Given the description of an element on the screen output the (x, y) to click on. 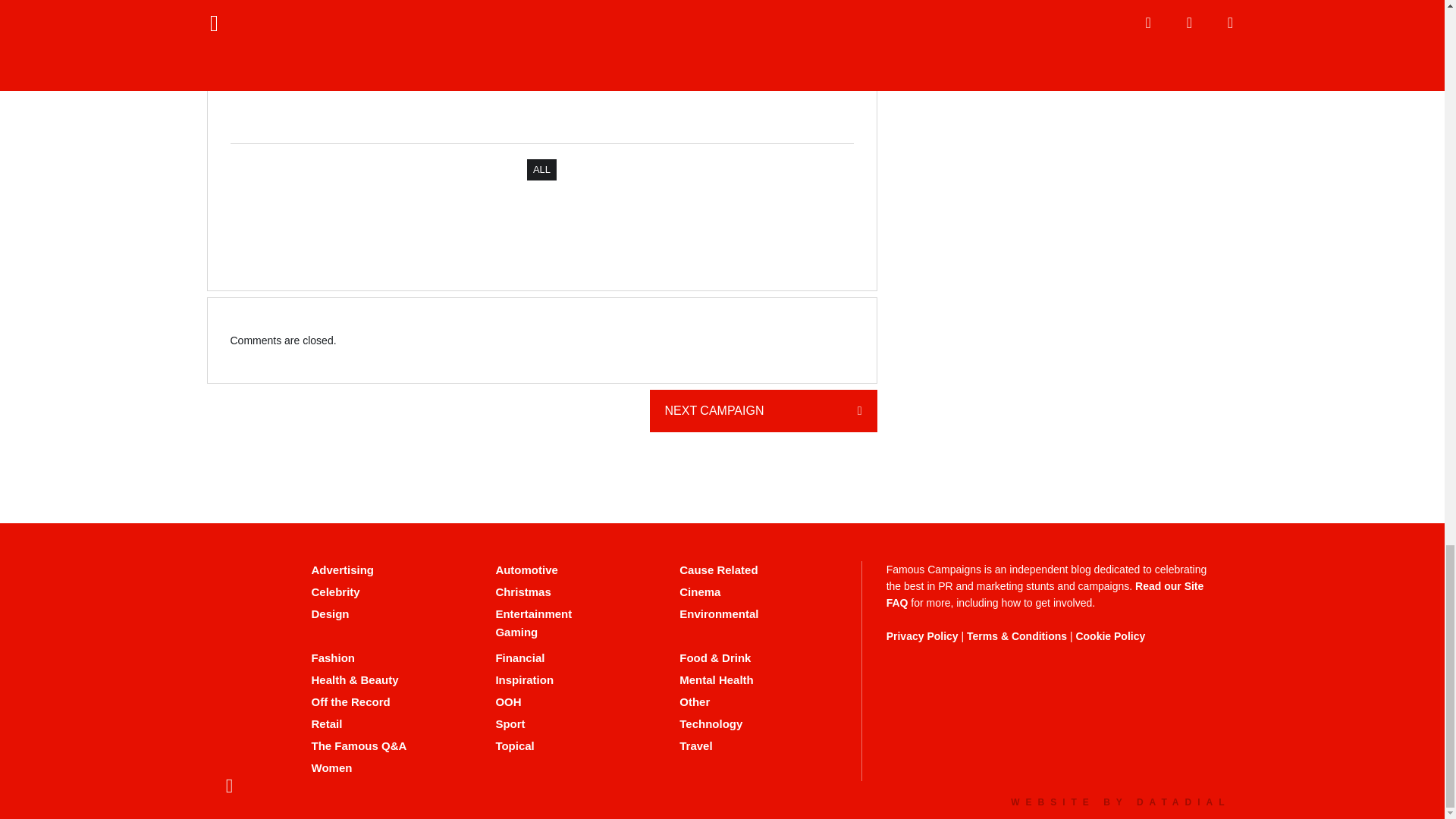
NEXT CAMPAIGN (762, 410)
ALL (541, 169)
